Given the description of an element on the screen output the (x, y) to click on. 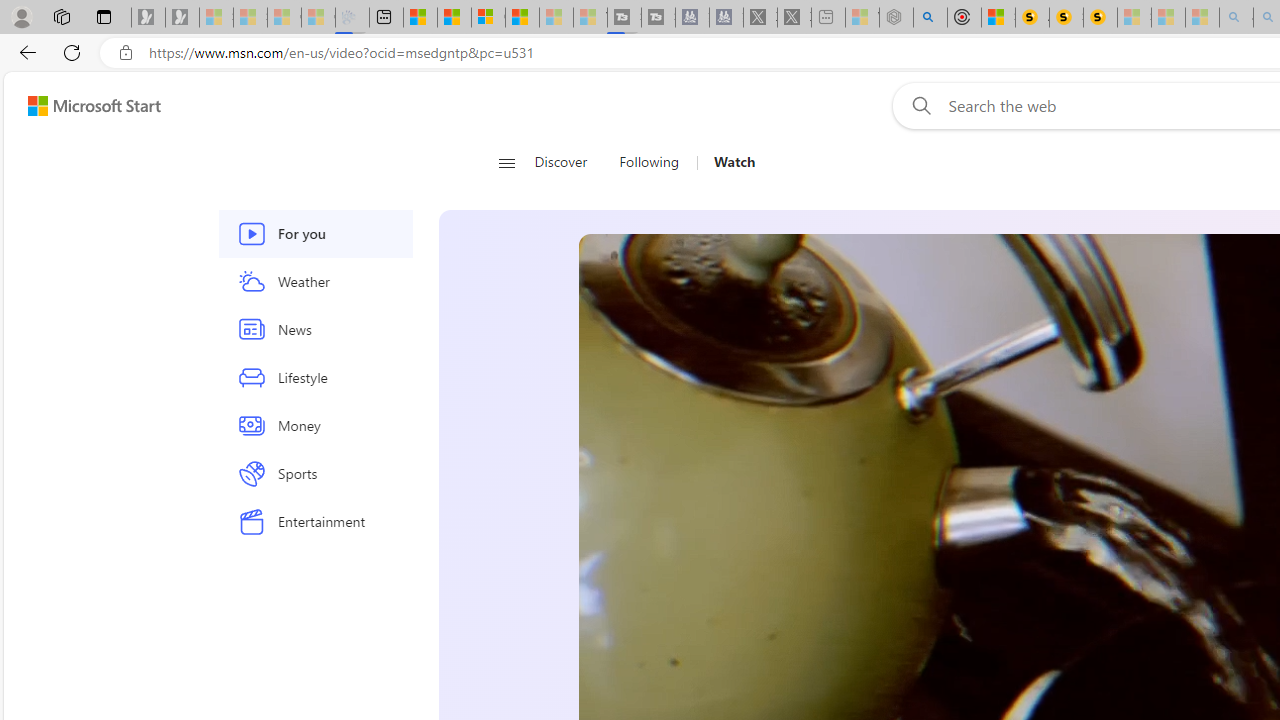
Class: button-glyph (505, 162)
Michelle Starr, Senior Journalist at ScienceAlert (1100, 17)
Open navigation menu (506, 162)
